Given the description of an element on the screen output the (x, y) to click on. 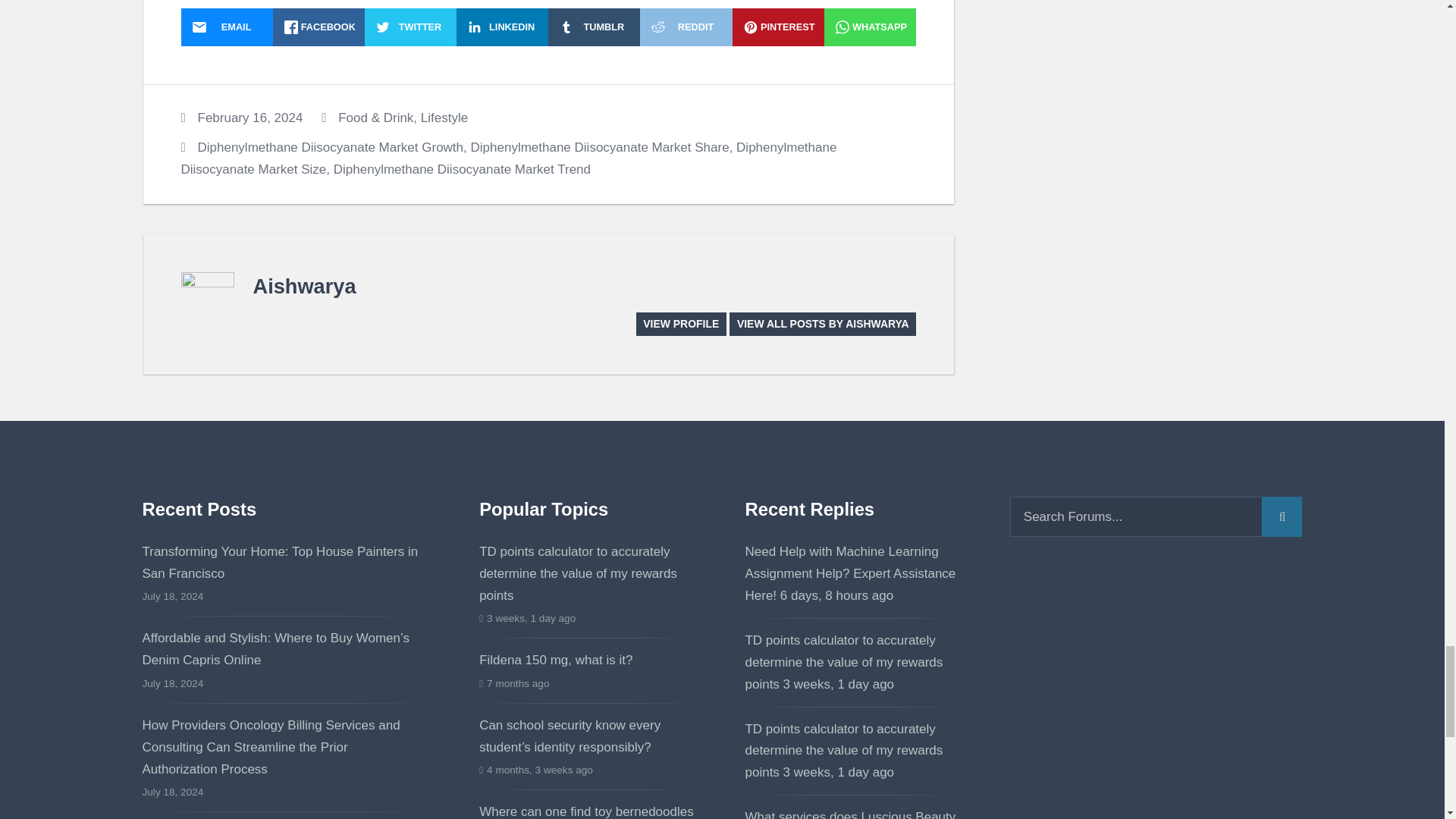
FACEBOOK (319, 26)
LINKEDIN (502, 26)
EMAIL (226, 26)
REDDIT (686, 26)
TUMBLR (594, 26)
TWITTER (411, 26)
